Given the description of an element on the screen output the (x, y) to click on. 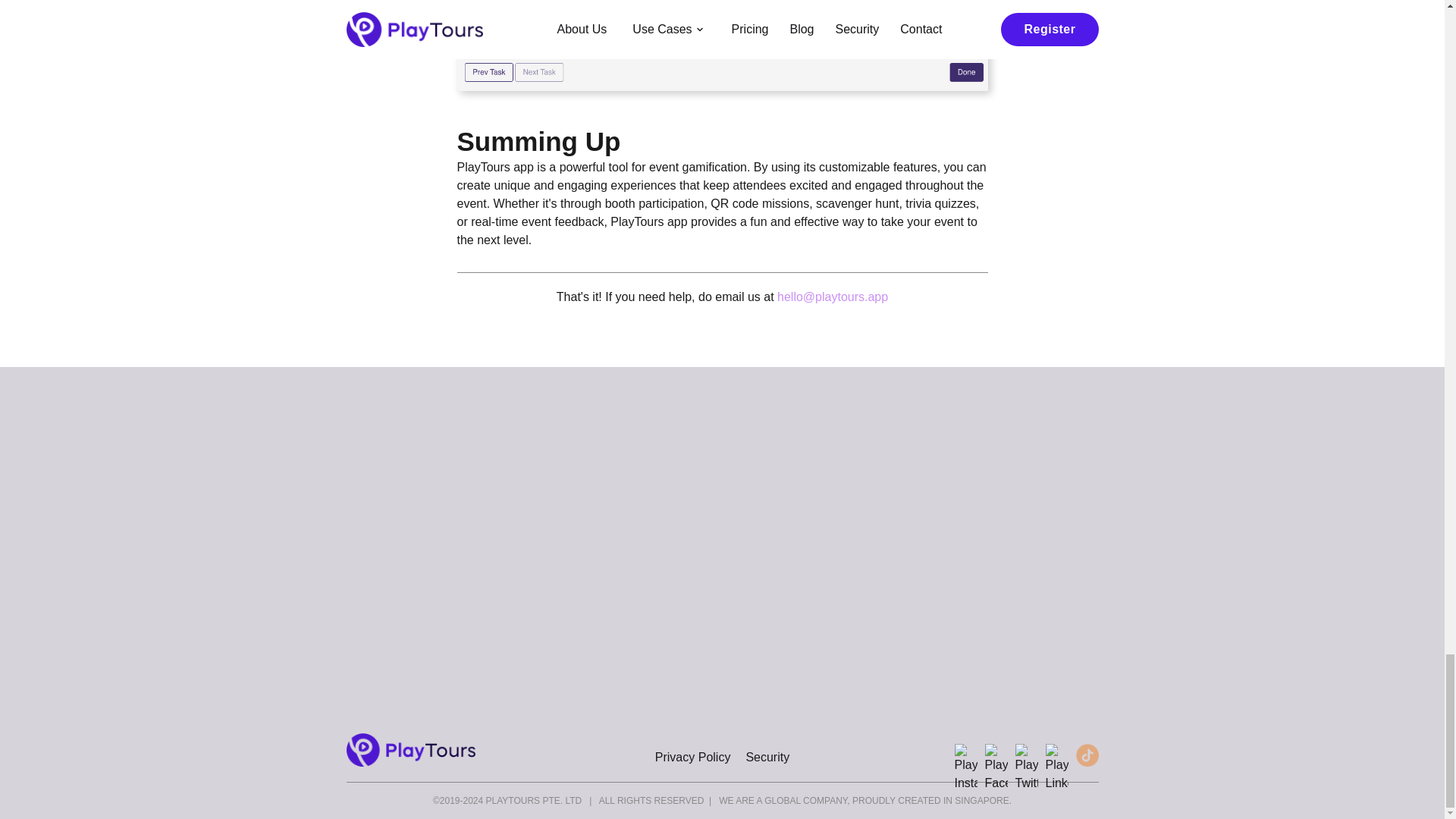
Privacy Policy (692, 757)
Amaze Me (721, 685)
Security (767, 757)
